Given the description of an element on the screen output the (x, y) to click on. 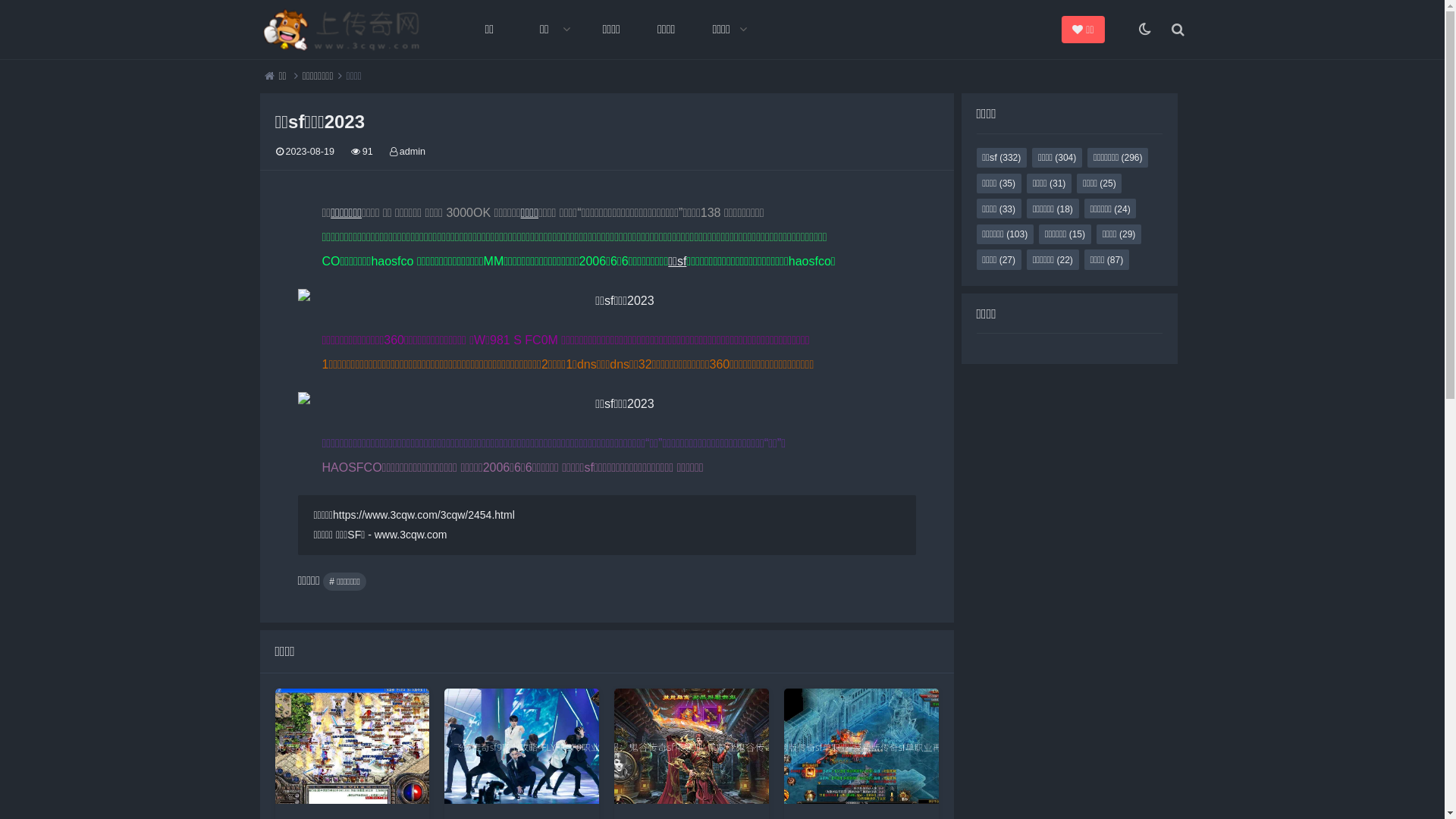
https://www.3cqw.com/3cqw/2454.html Element type: text (423, 514)
